Given the description of an element on the screen output the (x, y) to click on. 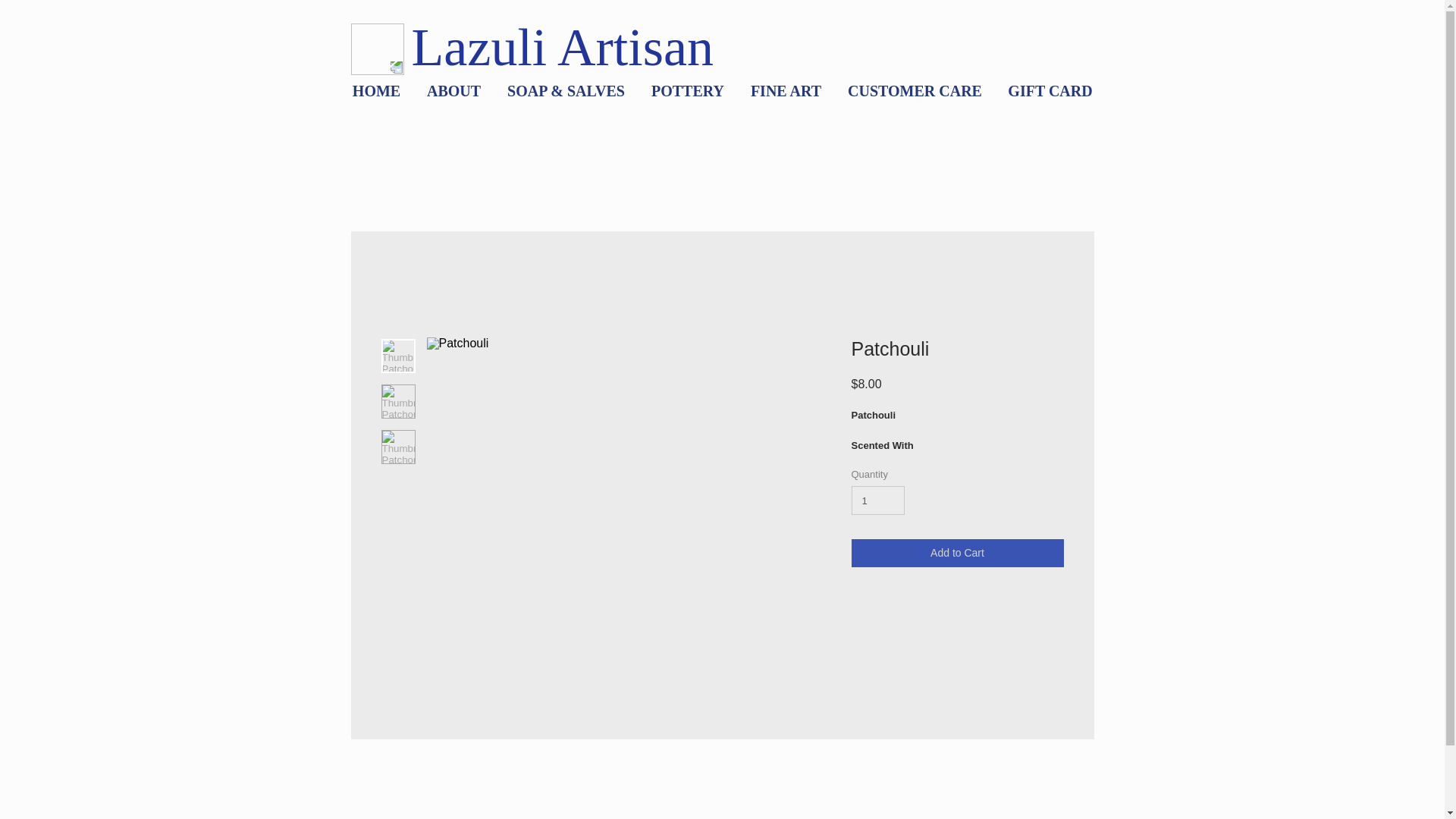
CUSTOMER CARE (914, 91)
GIFT CARD (1049, 91)
POTTERY (688, 91)
HOME (376, 91)
Add to Cart (956, 552)
1 (877, 500)
Lazuli Artisan  (568, 47)
FINE ART (785, 91)
ABOUT (454, 91)
